Given the description of an element on the screen output the (x, y) to click on. 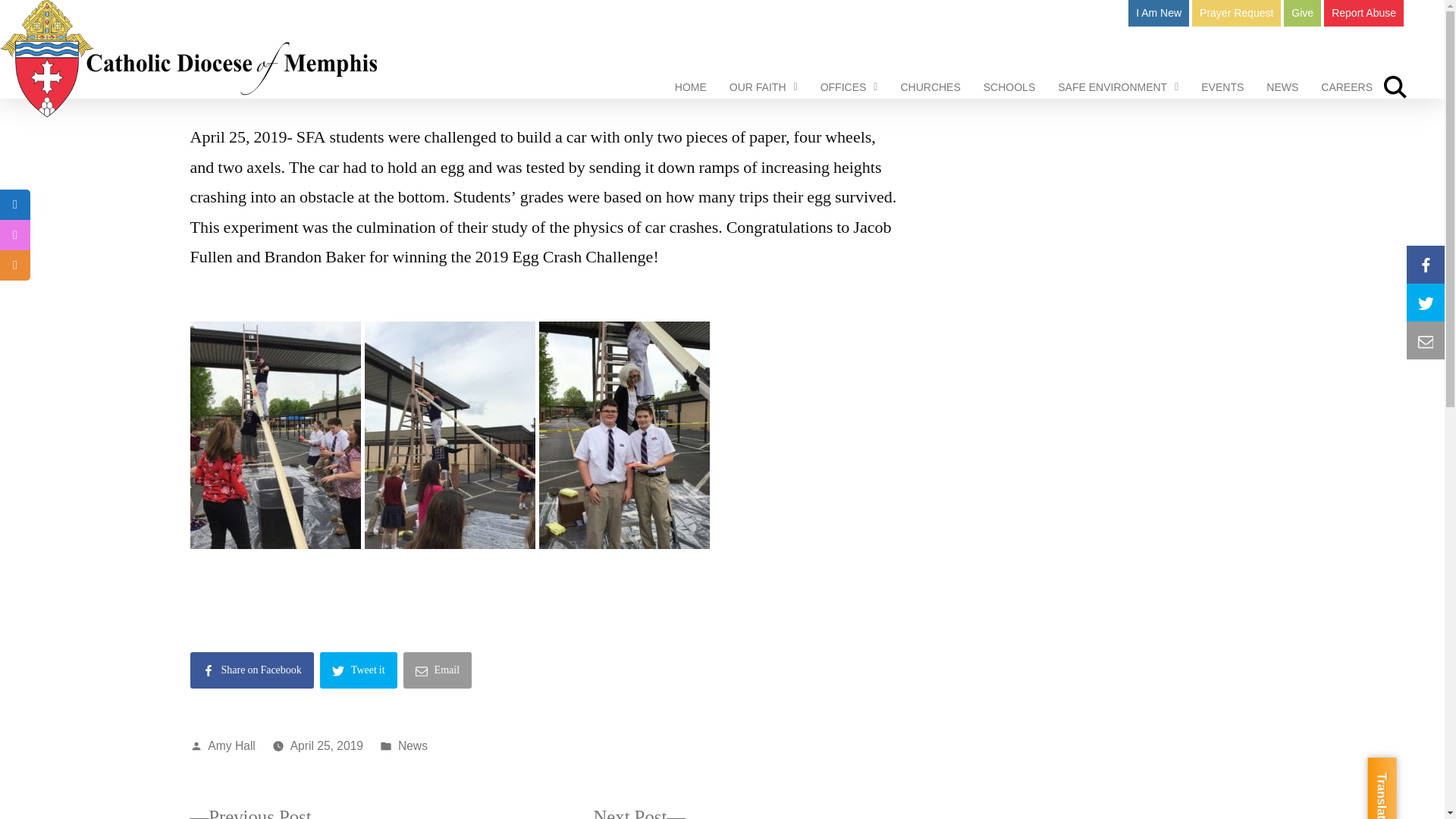
Report Abuse (1363, 13)
Give (1302, 13)
I Am New (1158, 13)
SCHOOLS (1009, 87)
SEARCH (1395, 87)
SAFE ENVIRONMENT (1117, 87)
Prayer Request (1236, 13)
Share on Facebook (252, 672)
Tweet (360, 672)
EVENTS (1222, 87)
CHURCHES (929, 87)
CAREERS (1346, 87)
OUR FAITH (763, 87)
HOME (690, 87)
OFFICES (849, 87)
